Given the description of an element on the screen output the (x, y) to click on. 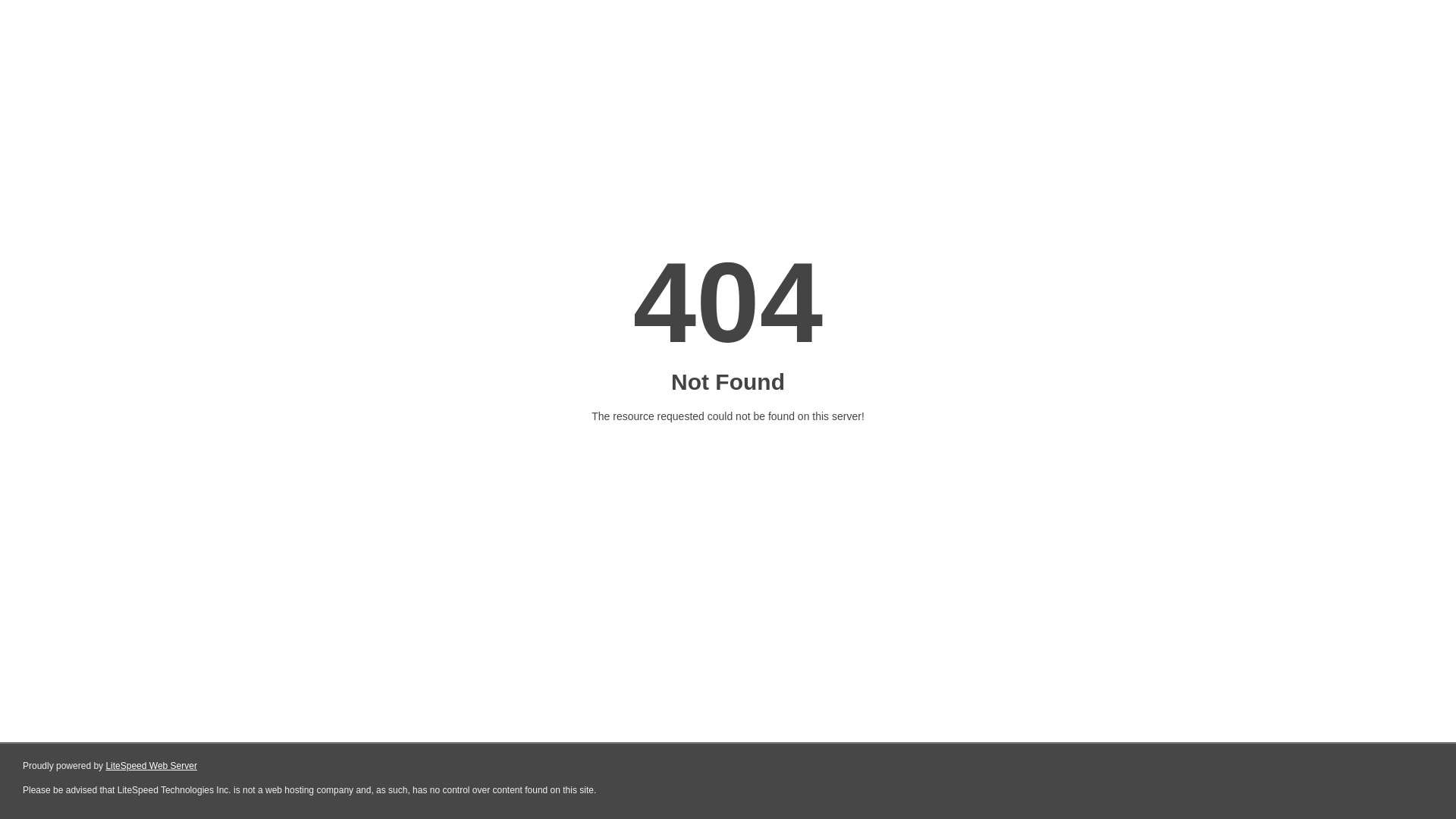
LiteSpeed Web Server Element type: text (151, 765)
